Given the description of an element on the screen output the (x, y) to click on. 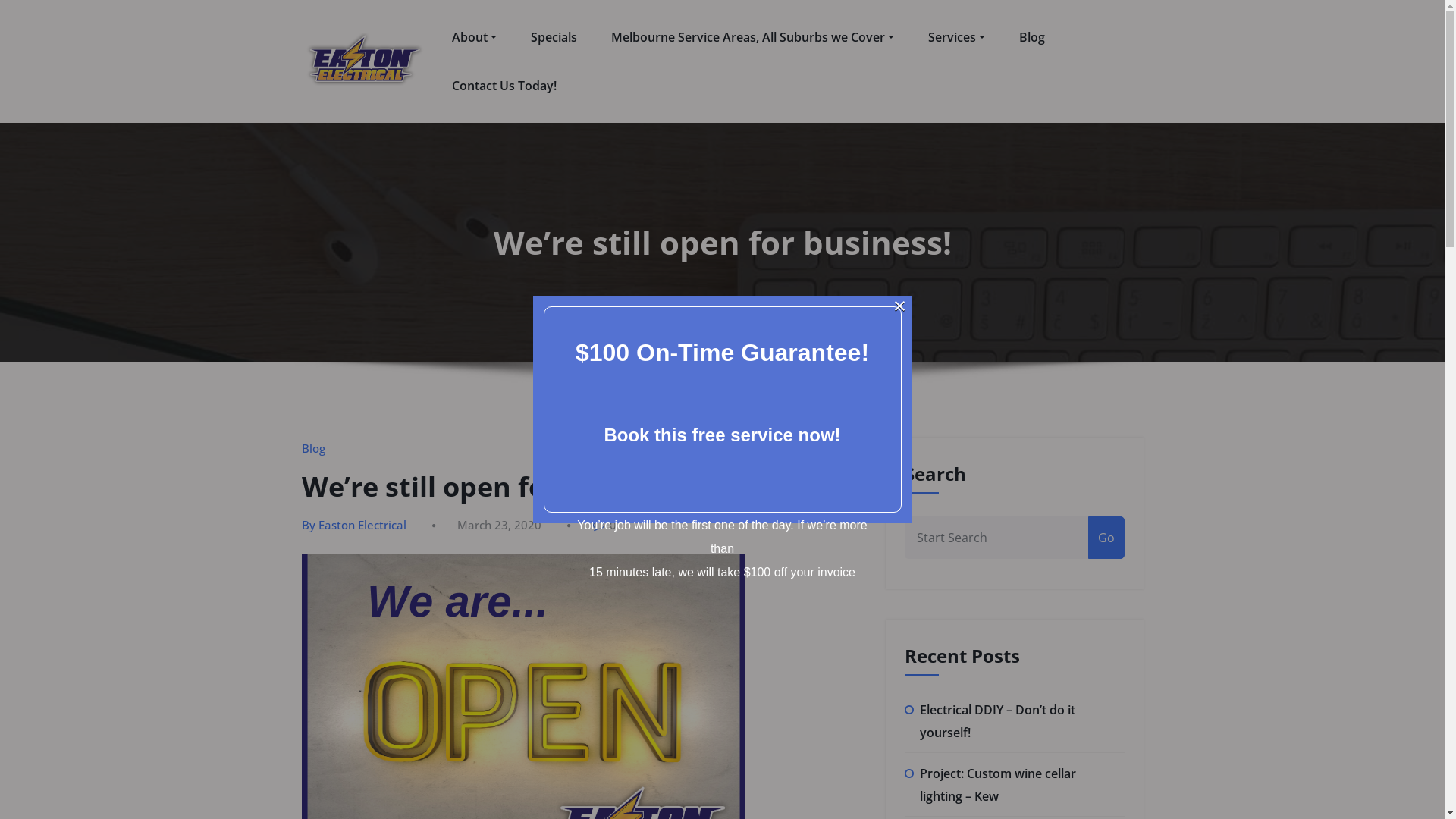
0 Element type: text (603, 524)
Go Element type: text (1105, 537)
About Element type: text (473, 37)
Book this free service now! Element type: text (721, 436)
Melbourne Service Areas, All Suburbs we Cover Element type: text (752, 37)
Blog Element type: text (1031, 37)
Contact Us Today! Element type: text (503, 86)
Specials Element type: text (553, 37)
Services Element type: text (956, 37)
Melbourne Electrician Services Victoria Element type: text (650, 75)
March 23, 2020 Element type: text (498, 524)
By Easton Electrical Element type: text (353, 524)
Blog Element type: text (313, 447)
